Given the description of an element on the screen output the (x, y) to click on. 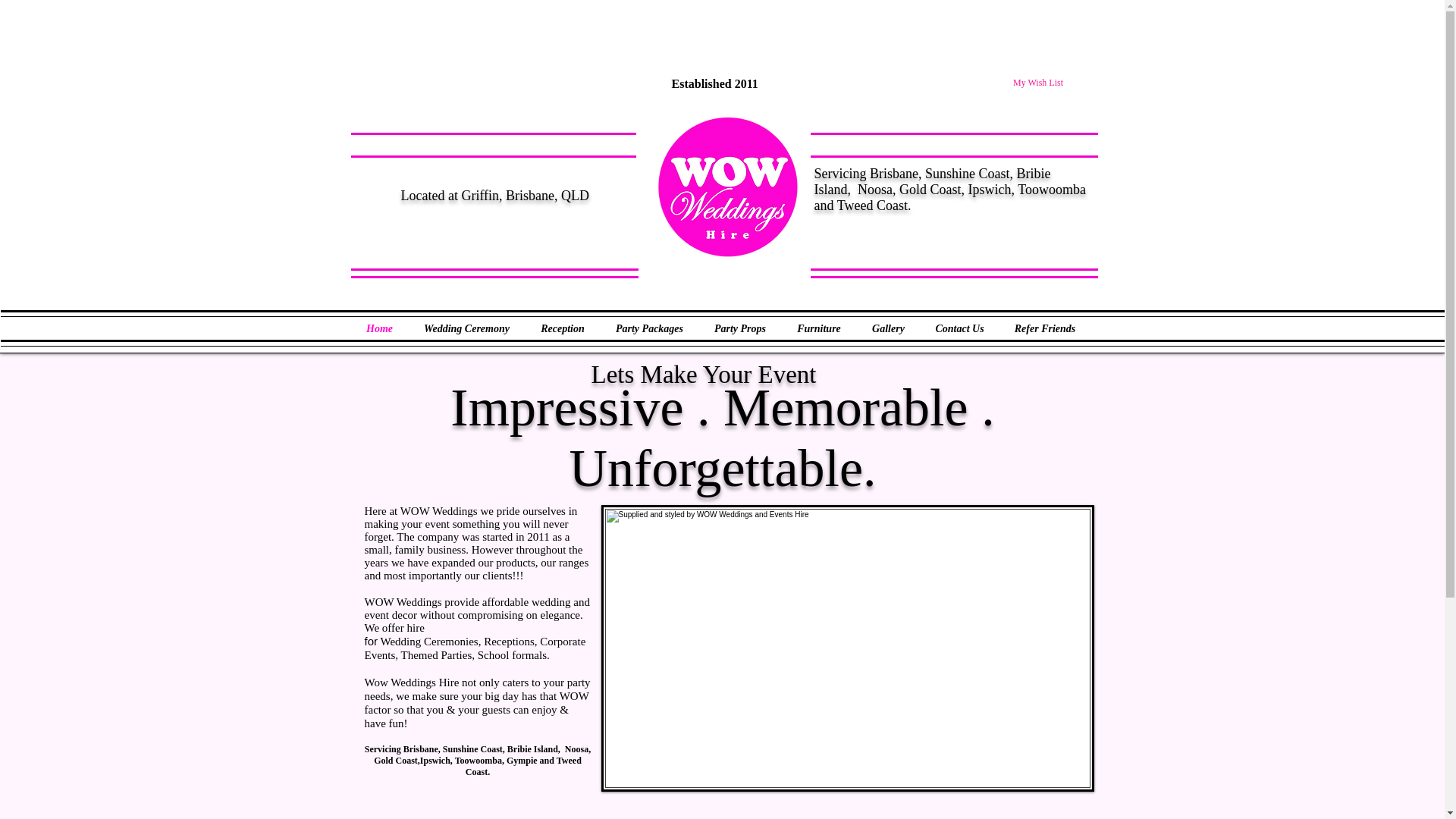
Gallery (888, 329)
Furniture (818, 329)
Home (378, 329)
Affordable decor without compromising on elegance  (726, 185)
My Wish List (1047, 81)
Party Props (739, 329)
My Wish List (1047, 81)
